Given the description of an element on the screen output the (x, y) to click on. 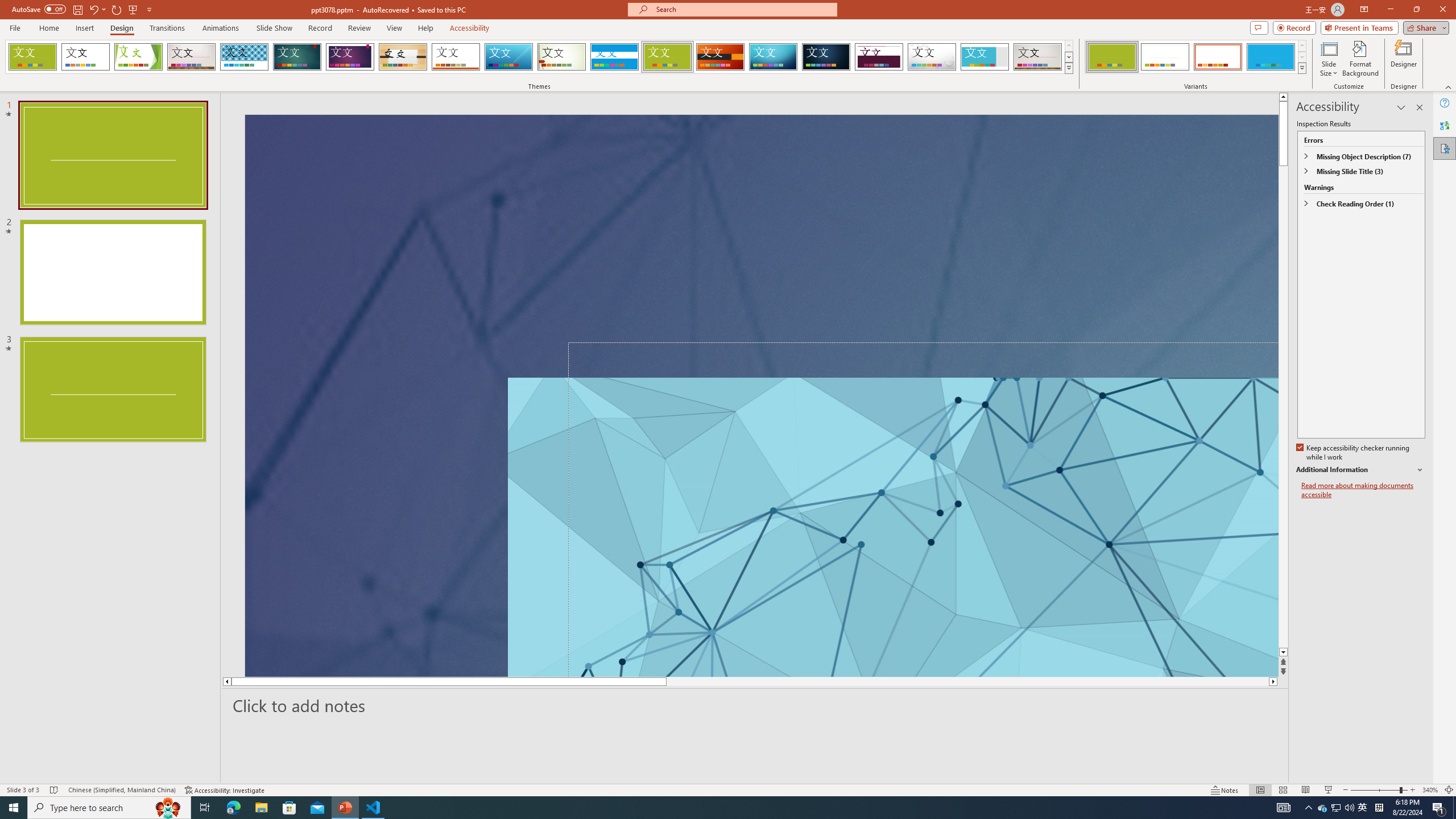
Frame (984, 56)
